Given the description of an element on the screen output the (x, y) to click on. 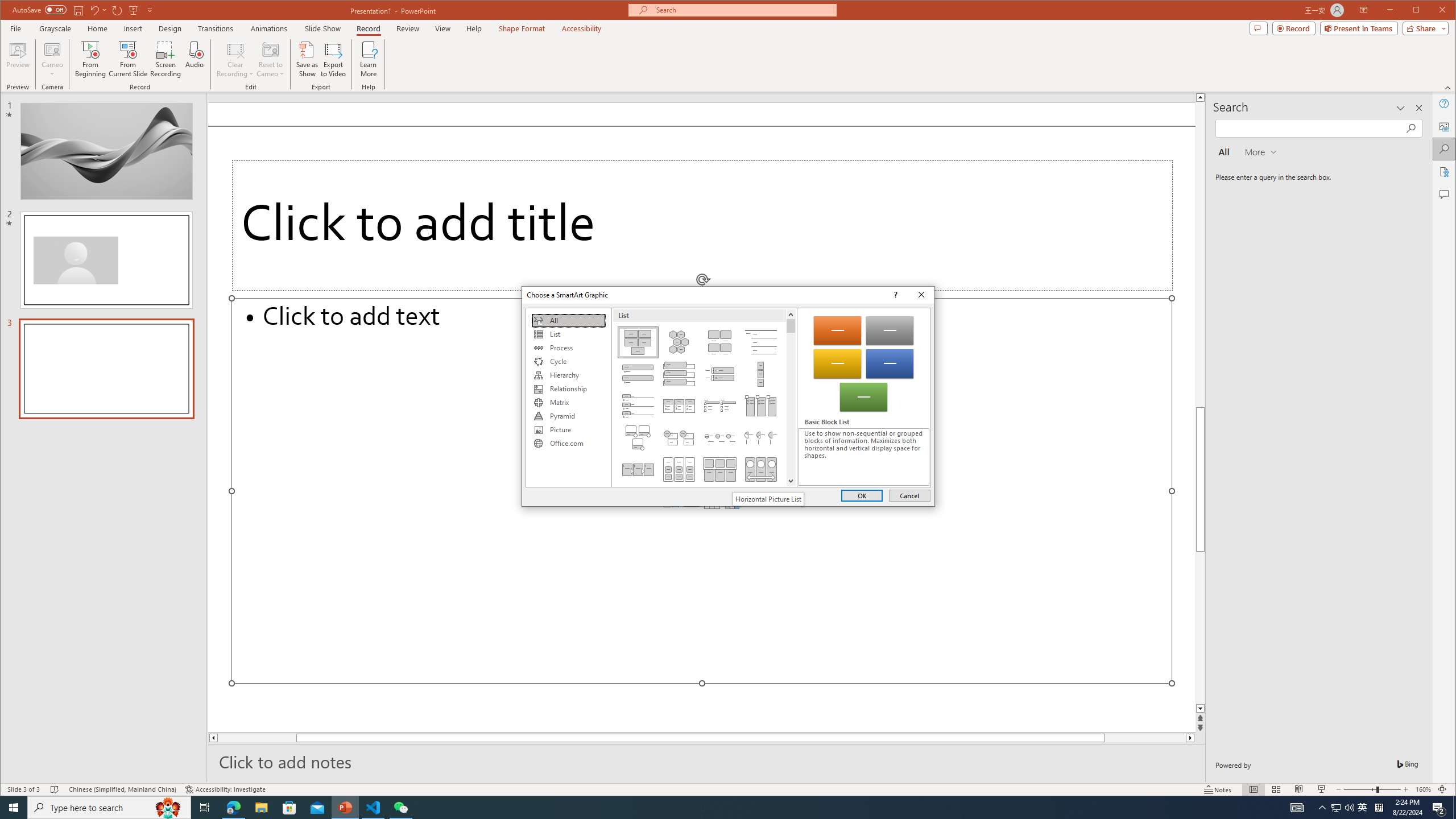
From Current Slide... (127, 59)
Alternating Hexagons (678, 342)
Relationship (568, 388)
